Given the description of an element on the screen output the (x, y) to click on. 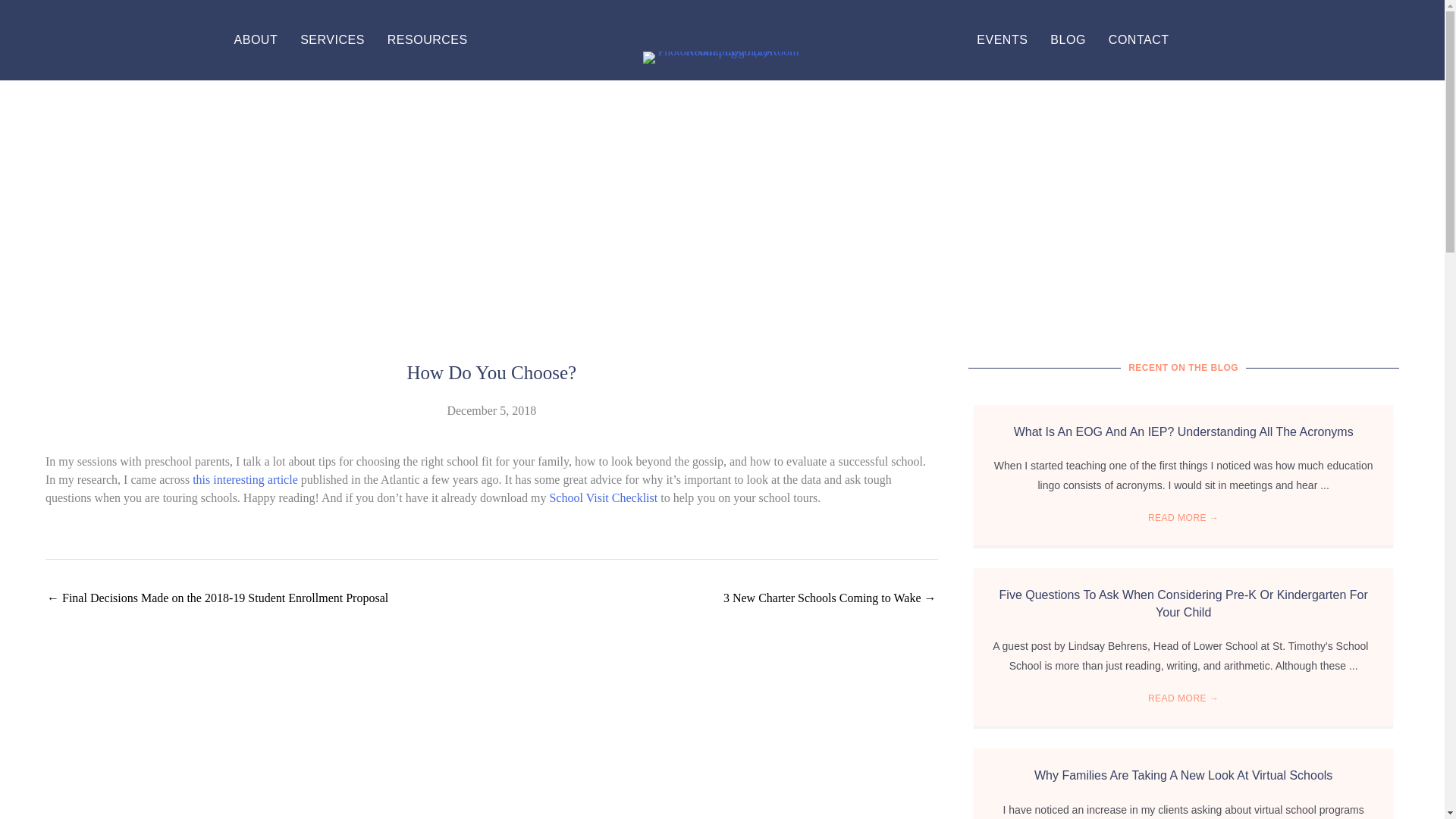
this interesting article (245, 479)
EVENTS (1002, 40)
What Is An EOG And An IEP? Understanding All The Acronyms (1183, 431)
RESOURCES (428, 40)
What is an EOG and an IEP? Understanding all the Acronyms (1183, 431)
SERVICES (332, 40)
Why Families Are Taking A New Look At Virtual Schools (1182, 775)
Read More (1184, 517)
